Given the description of an element on the screen output the (x, y) to click on. 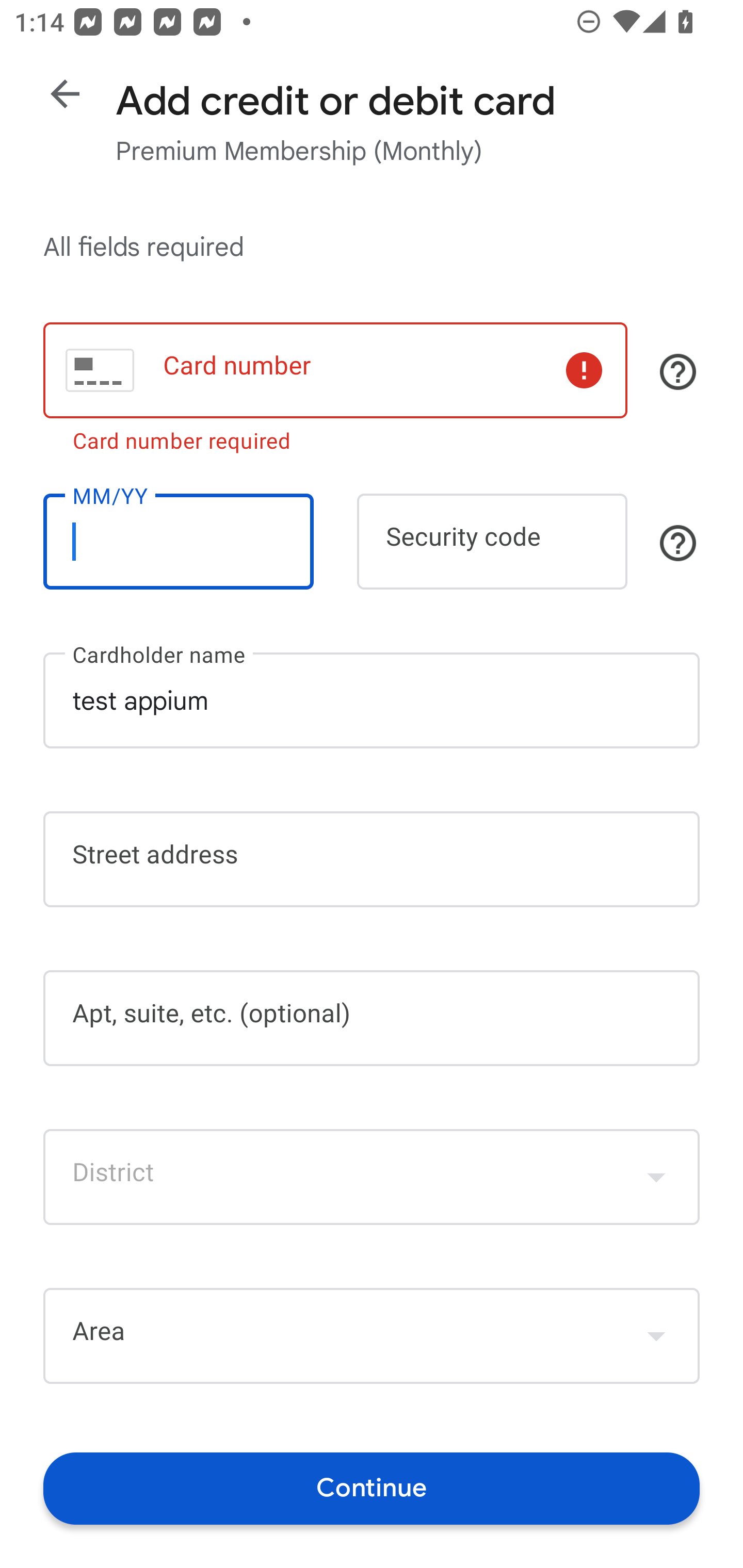
Back (64, 93)
Card number (335, 370)
Button, shows cards that are accepted for payment (677, 371)
Expiration date, 2 digit month, 2 digit year (178, 541)
Security code (492, 541)
Security code help (677, 543)
test appium (371, 699)
Street address (371, 858)
Apt, suite, etc. (optional) (371, 1018)
District (371, 1176)
Show dropdown menu (655, 1176)
Area (371, 1335)
Show dropdown menu (655, 1335)
Continue (371, 1487)
